Given the description of an element on the screen output the (x, y) to click on. 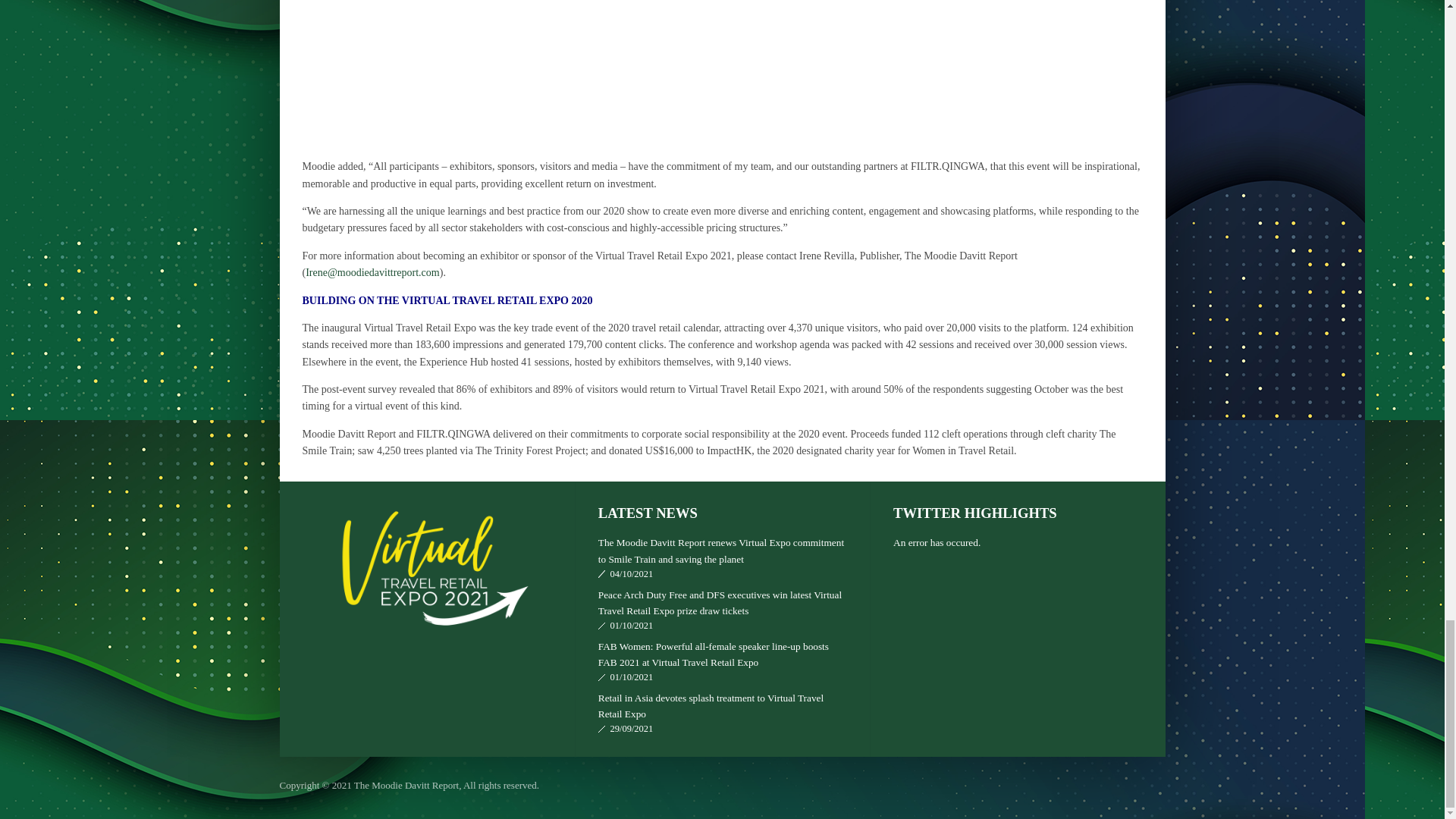
Virtual Travel Retail Expo - Highlights from the final day (721, 74)
Instagram (1122, 786)
Twitter (1150, 786)
